Given the description of an element on the screen output the (x, y) to click on. 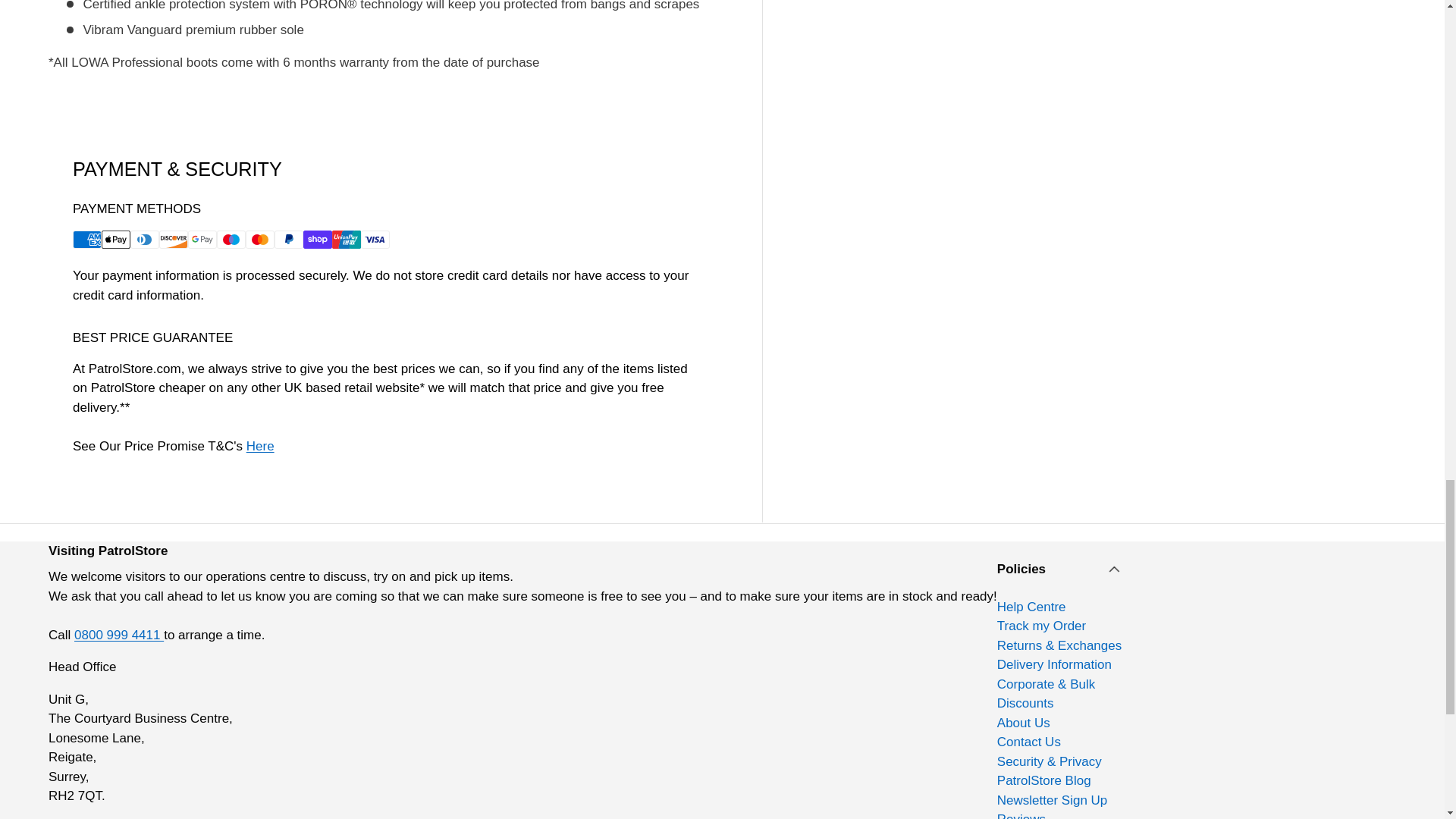
Apple Pay (116, 239)
Discover (172, 239)
tel:08009994411 (118, 635)
Our Price Promise (260, 445)
Google Pay (201, 239)
Diners Club (144, 239)
American Express (86, 239)
